Given the description of an element on the screen output the (x, y) to click on. 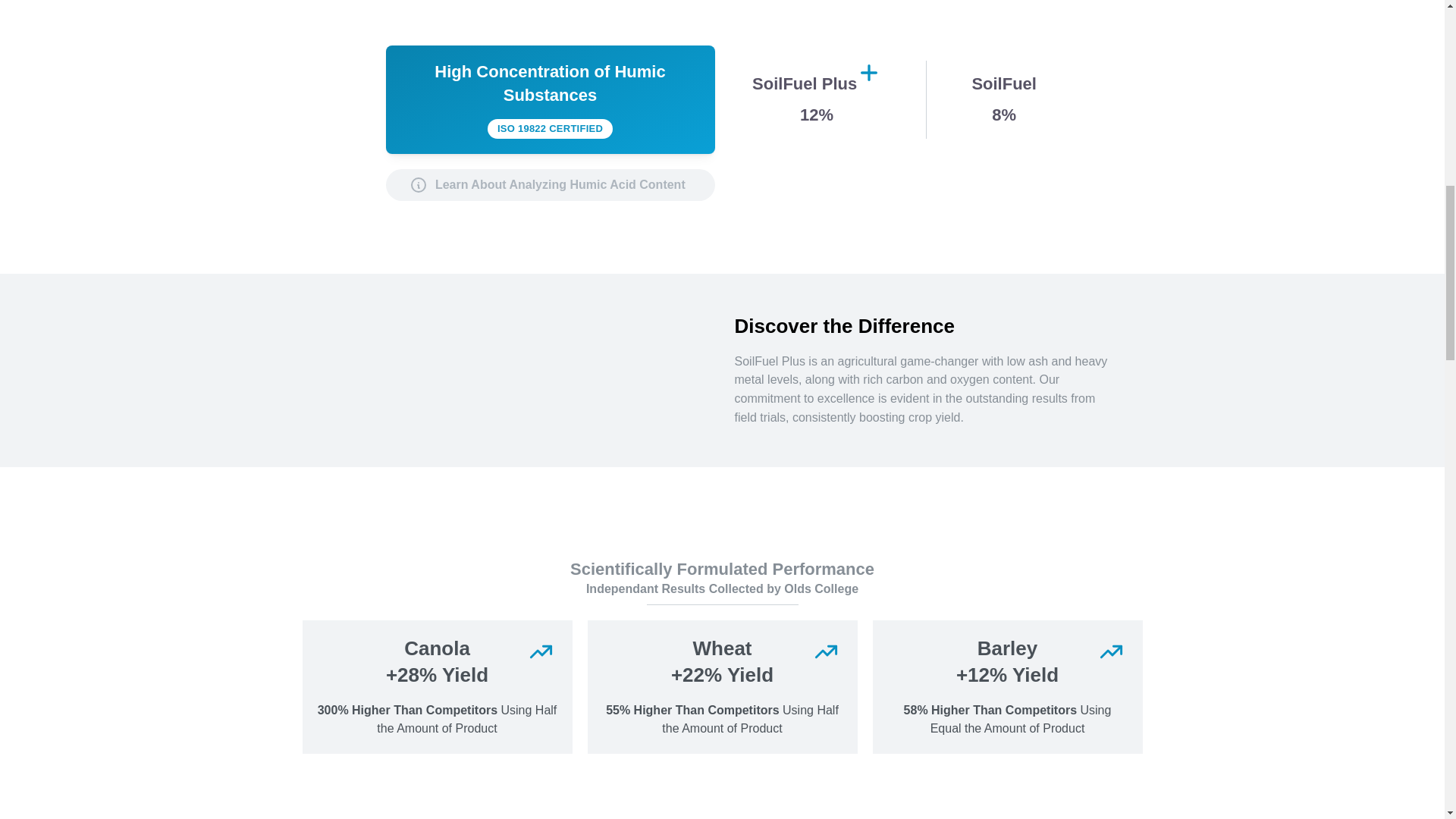
Learn About Analyzing Humic Acid Content (549, 184)
